Given the description of an element on the screen output the (x, y) to click on. 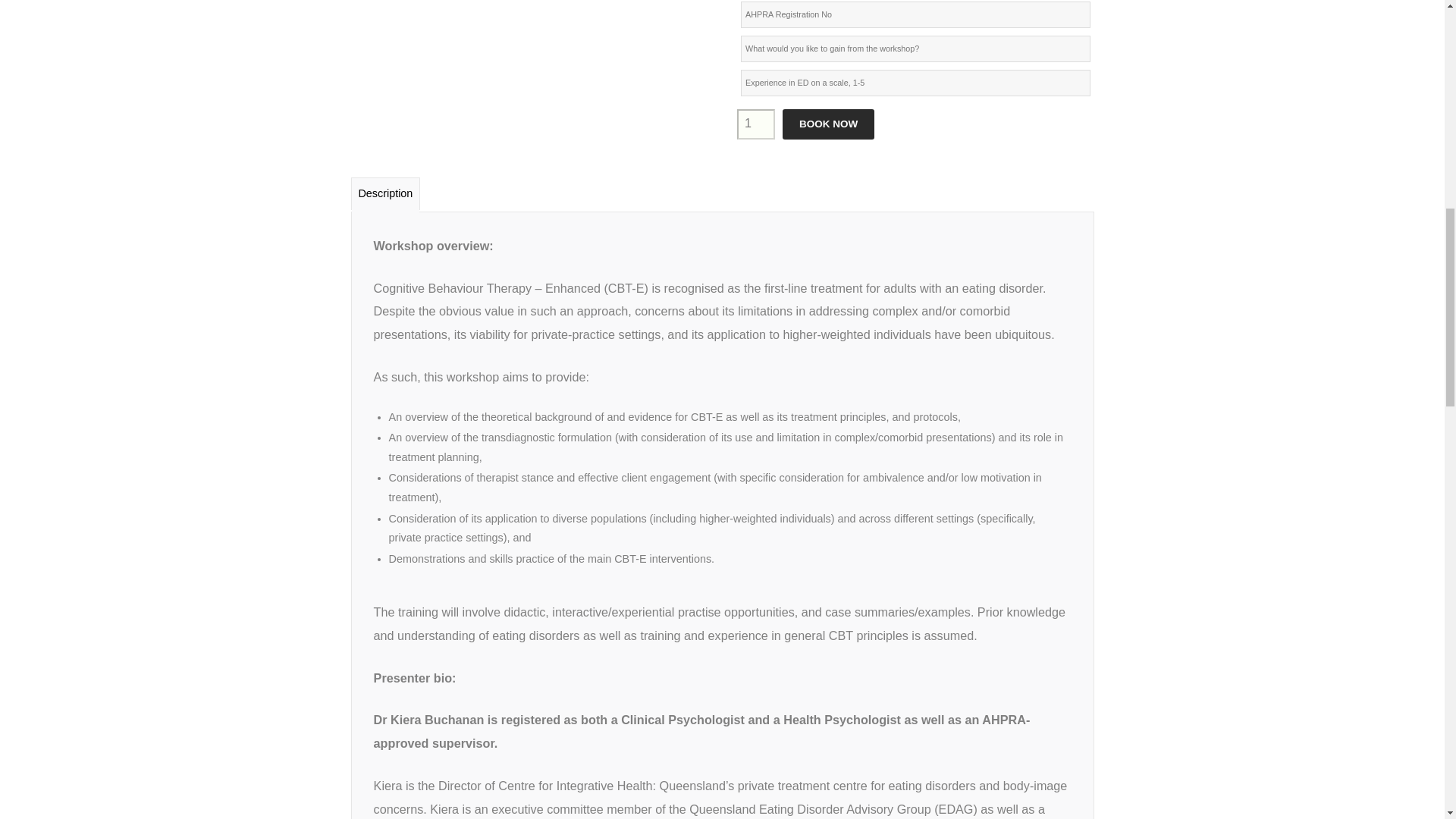
1 (755, 123)
